Given the description of an element on the screen output the (x, y) to click on. 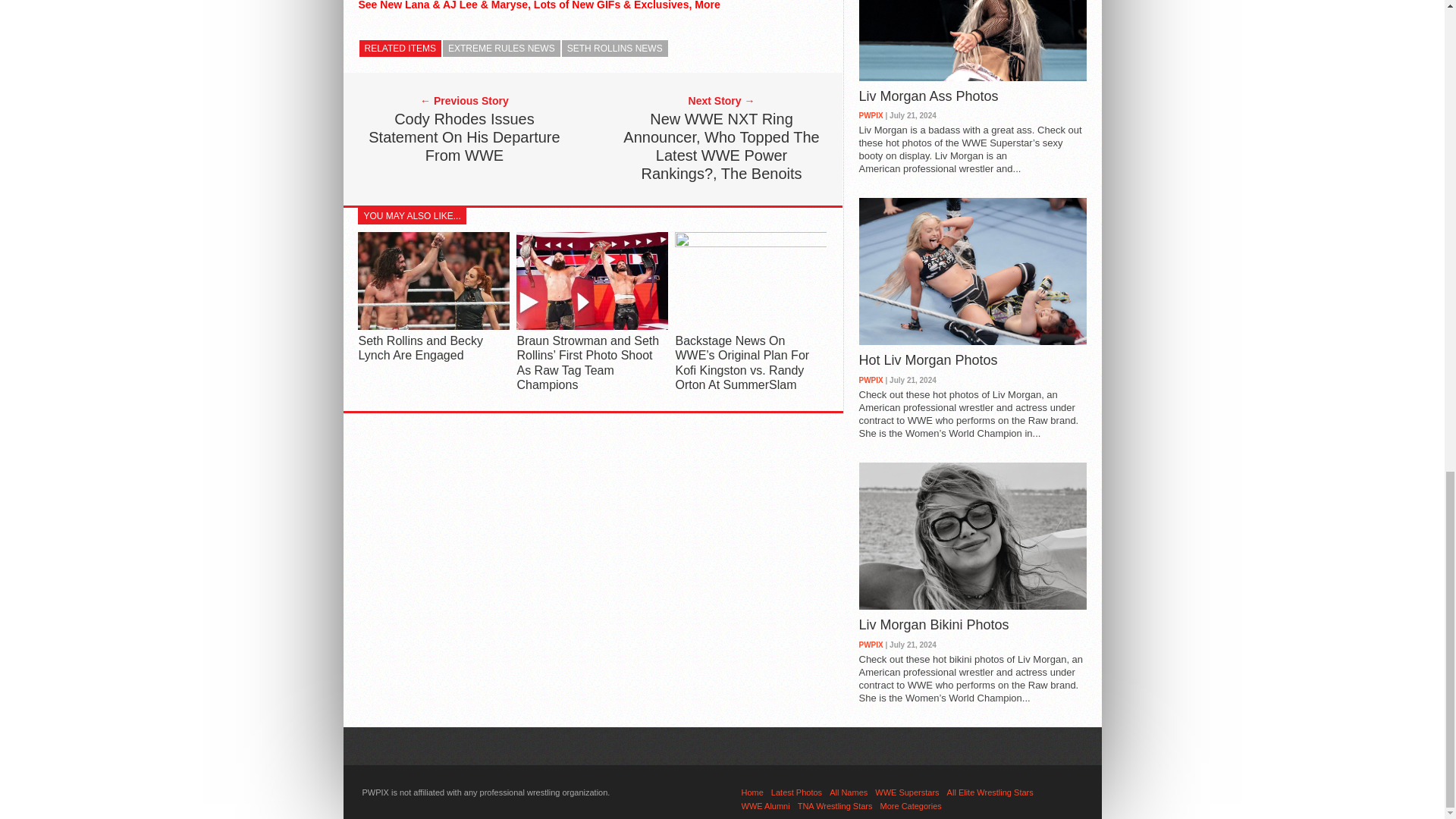
SETH ROLLINS NEWS (615, 48)
EXTREME RULES NEWS (501, 48)
Cody Rhodes Issues Statement On His Departure From WWE (463, 136)
